Given the description of an element on the screen output the (x, y) to click on. 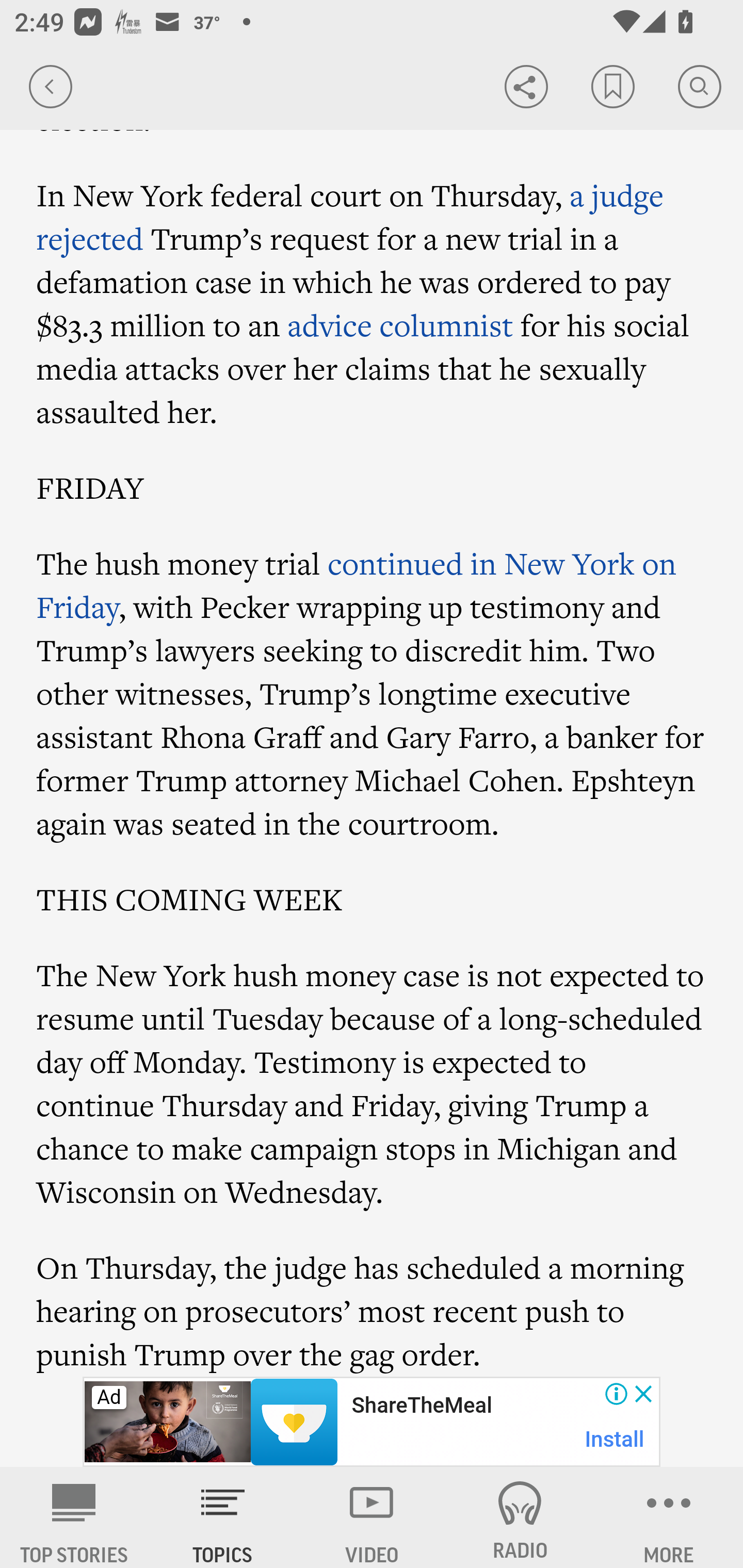
a judge rejected (350, 217)
advice columnist (400, 325)
continued in New York on Friday (356, 585)
ShareTheMeal (420, 1405)
Install (614, 1438)
AP News TOP STORIES (74, 1517)
TOPICS (222, 1517)
VIDEO (371, 1517)
RADIO (519, 1517)
MORE (668, 1517)
